Given the description of an element on the screen output the (x, y) to click on. 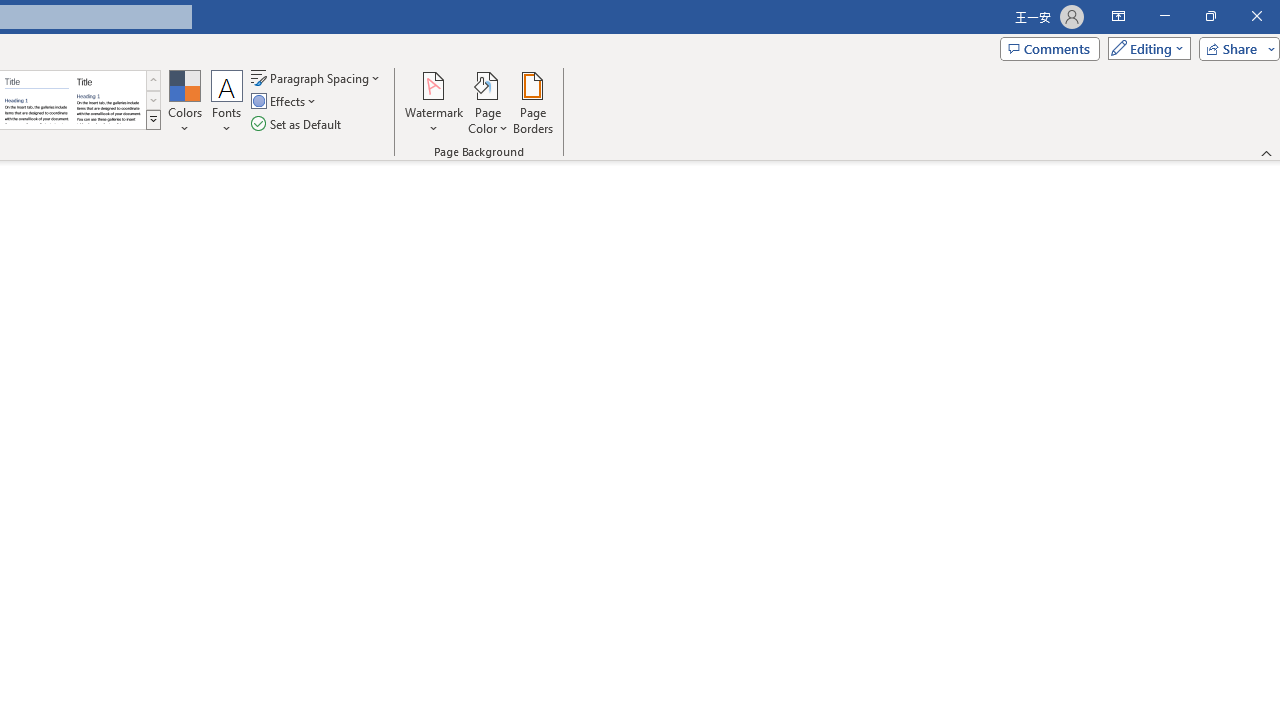
Effects (285, 101)
Page Borders... (532, 102)
Page Color (487, 102)
